Given the description of an element on the screen output the (x, y) to click on. 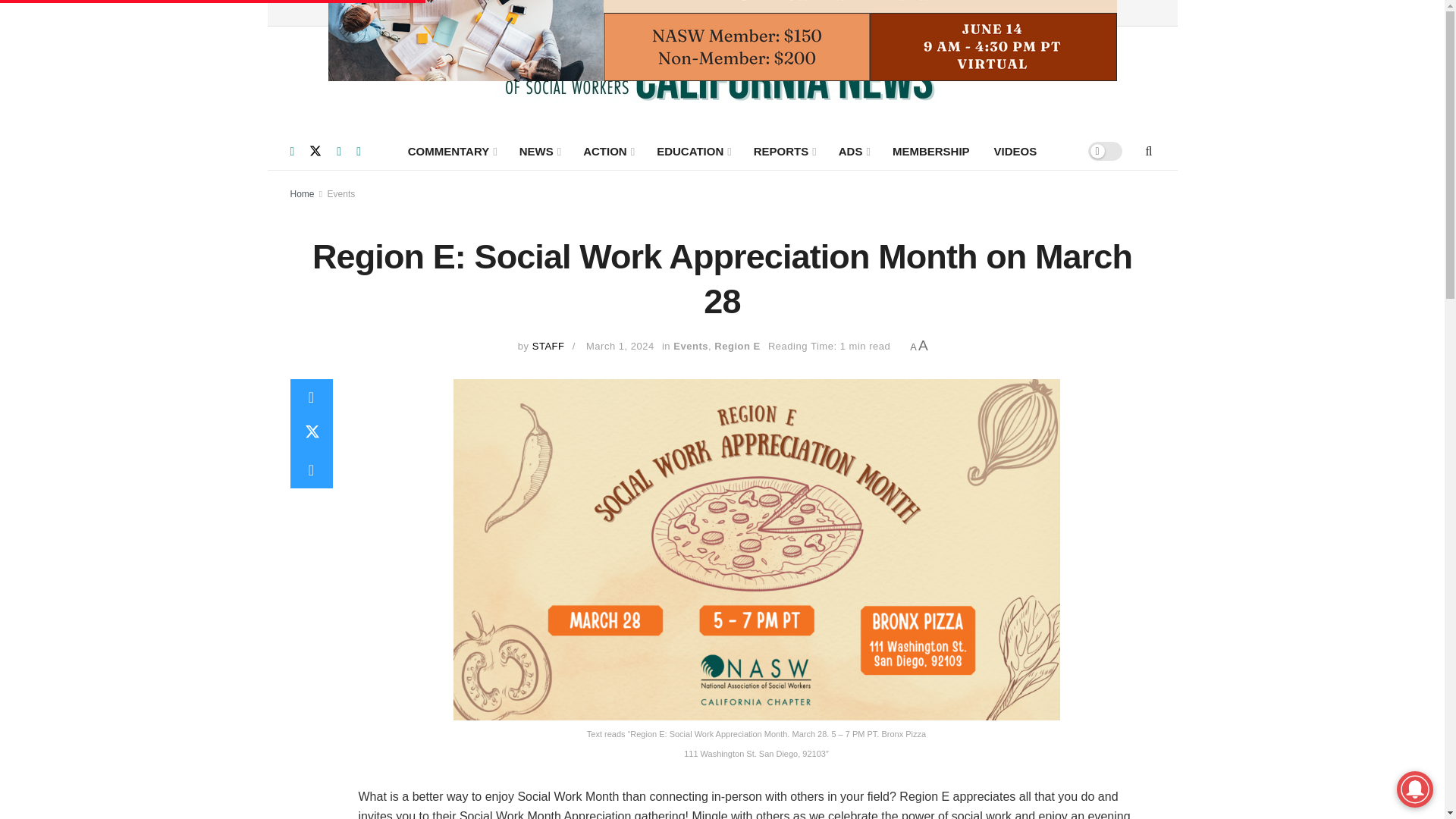
EDUCATION (693, 150)
COMMENTARY (451, 150)
ACTION (607, 150)
REPORTS (784, 150)
NEWS (538, 150)
